Given the description of an element on the screen output the (x, y) to click on. 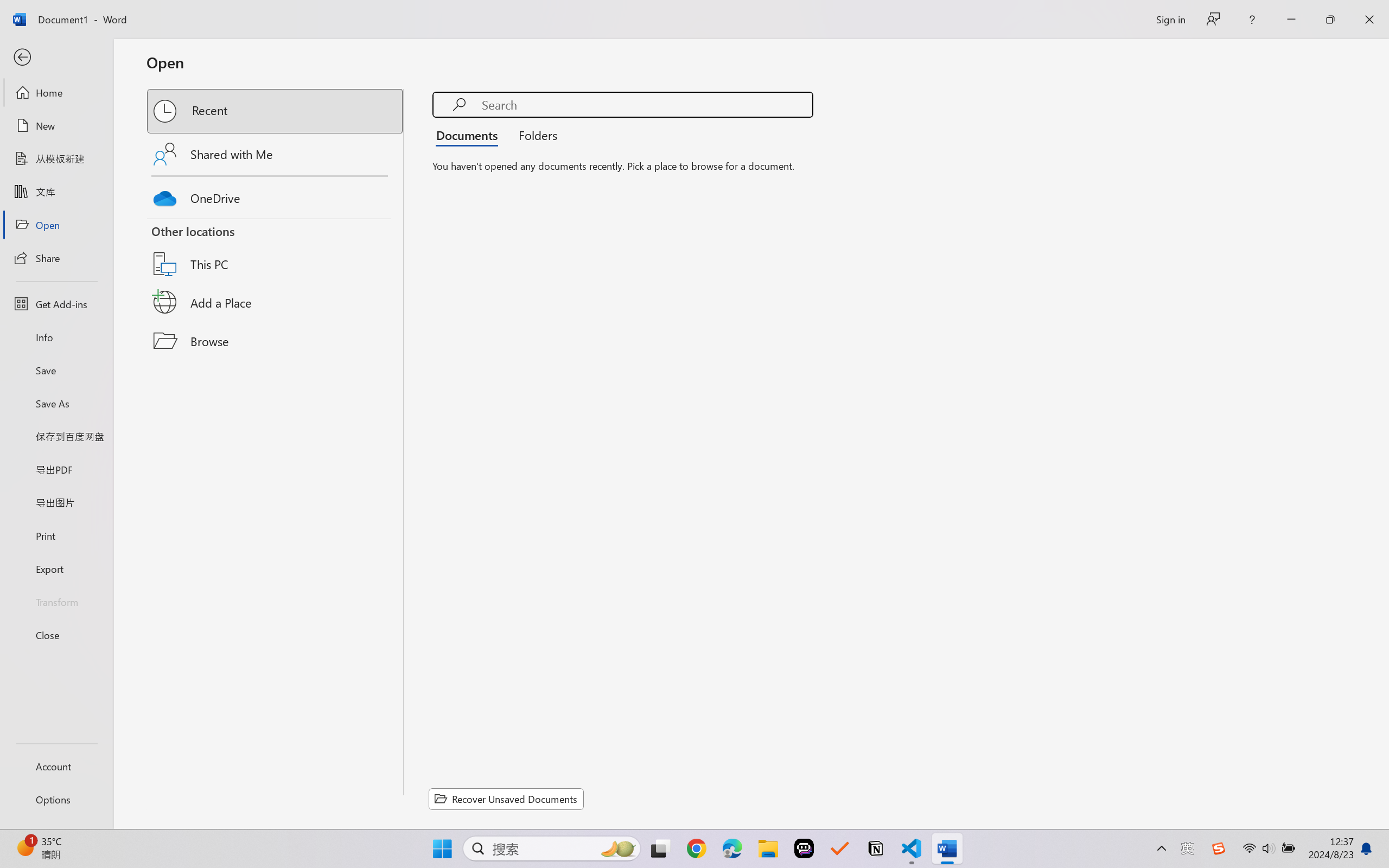
Recent (275, 110)
Back (56, 57)
Shared with Me (275, 153)
Browse (275, 340)
Add a Place (275, 302)
Print (56, 535)
Info (56, 337)
